Given the description of an element on the screen output the (x, y) to click on. 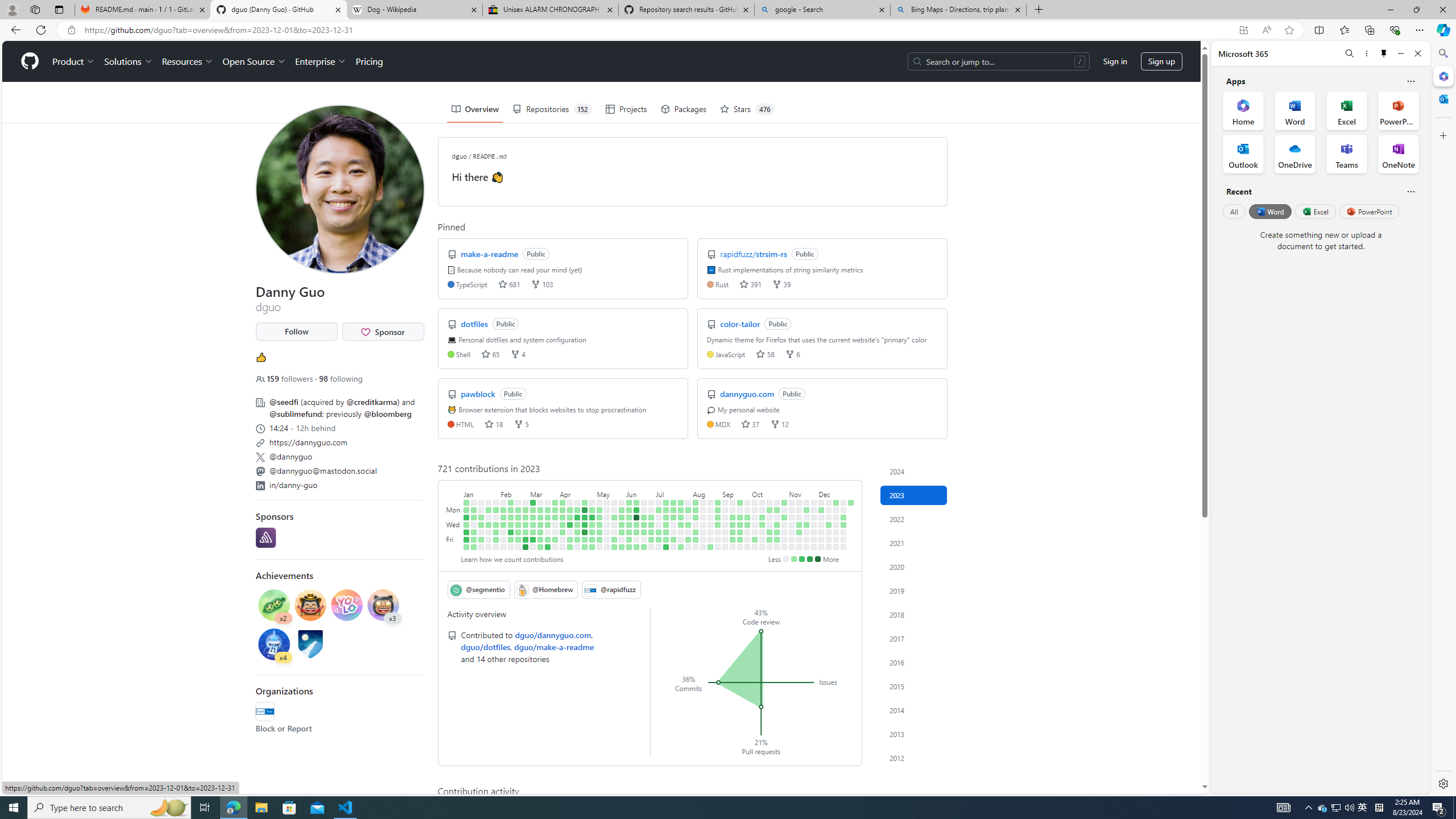
No contributions on January 22nd. (489, 502)
14 contributions on January 5th. (466, 531)
No contributions on May 15th. (607, 509)
No contributions on February 25th. (518, 546)
2 contributions on February 8th. (503, 524)
2 contributions on January 1st. (466, 502)
2 contributions on March 27th. (555, 509)
2 contributions on April 19th. (577, 524)
2 contributions on June 11th. (636, 502)
2 contributions on May 5th. (592, 539)
9 contributions on April 18th. (577, 517)
2021 (913, 542)
rapidfuzz/strsim-rs (754, 253)
